Given the description of an element on the screen output the (x, y) to click on. 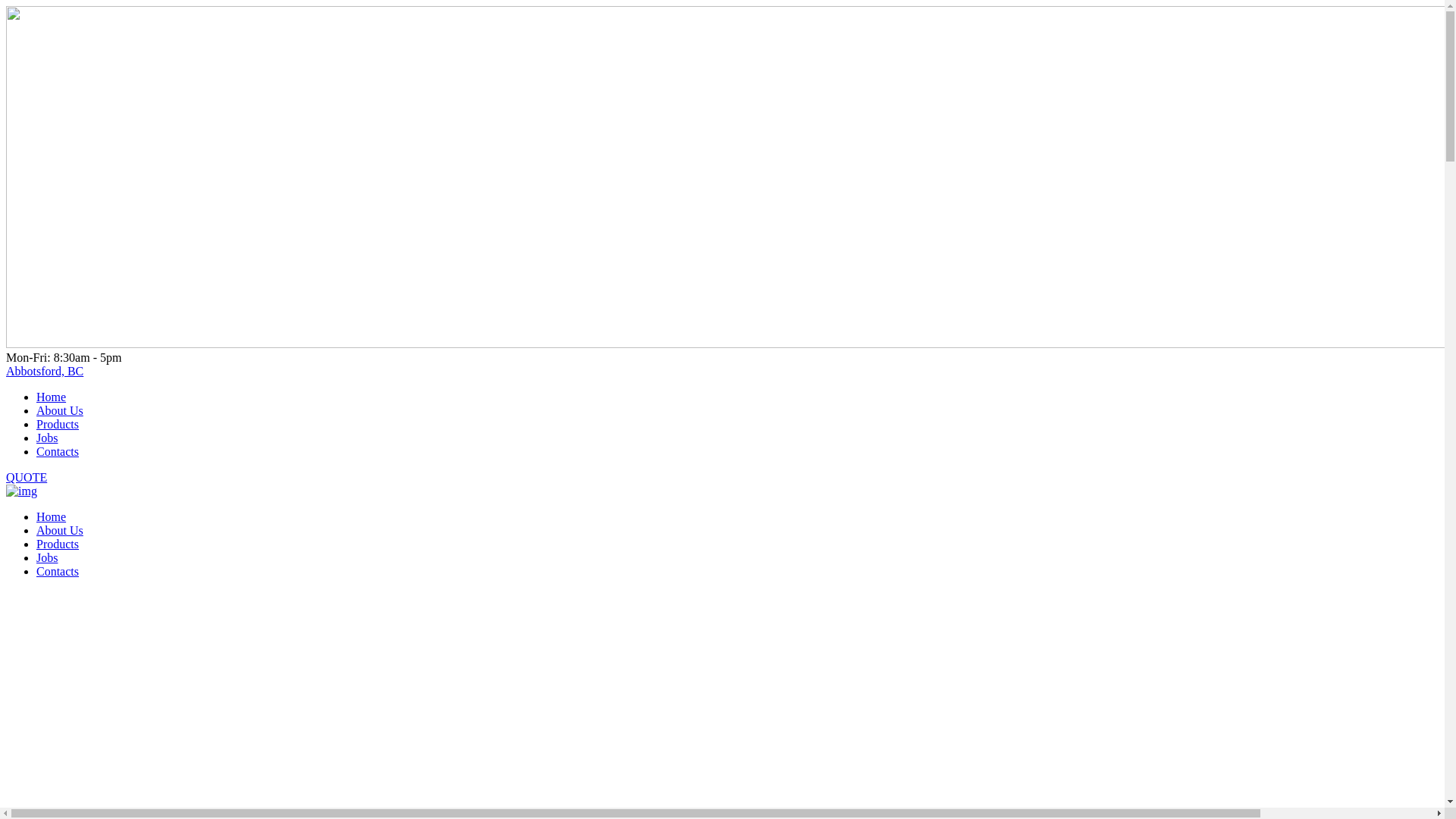
Contacts Element type: text (57, 451)
Products Element type: text (57, 543)
Home Element type: text (50, 516)
QUOTE Element type: text (26, 476)
Products Element type: text (57, 423)
Jobs Element type: text (46, 437)
Abbotsford, BC Element type: text (44, 370)
Home Element type: text (50, 396)
About Us Element type: text (59, 410)
Contacts Element type: text (57, 570)
Jobs Element type: text (46, 557)
About Us Element type: text (59, 530)
